Given the description of an element on the screen output the (x, y) to click on. 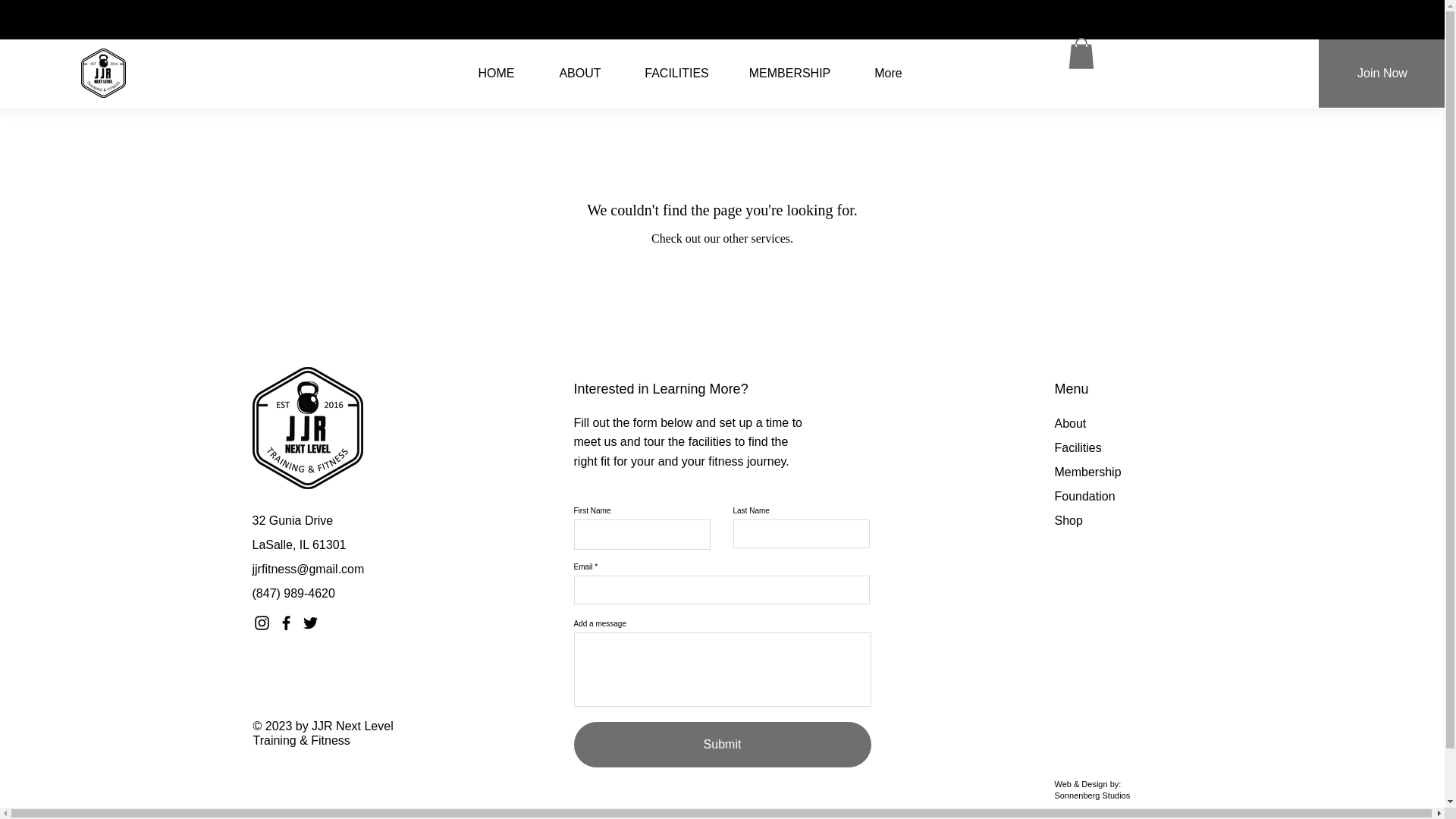
FACILITIES (676, 73)
JJR Next Level Logo.png (306, 427)
Submit (721, 744)
HOME (497, 73)
Foundation (1084, 495)
MEMBERSHIP (788, 73)
Membership (1087, 472)
ABOUT (580, 73)
About (1070, 422)
Shop (1067, 520)
Facilities (1077, 447)
